Given the description of an element on the screen output the (x, y) to click on. 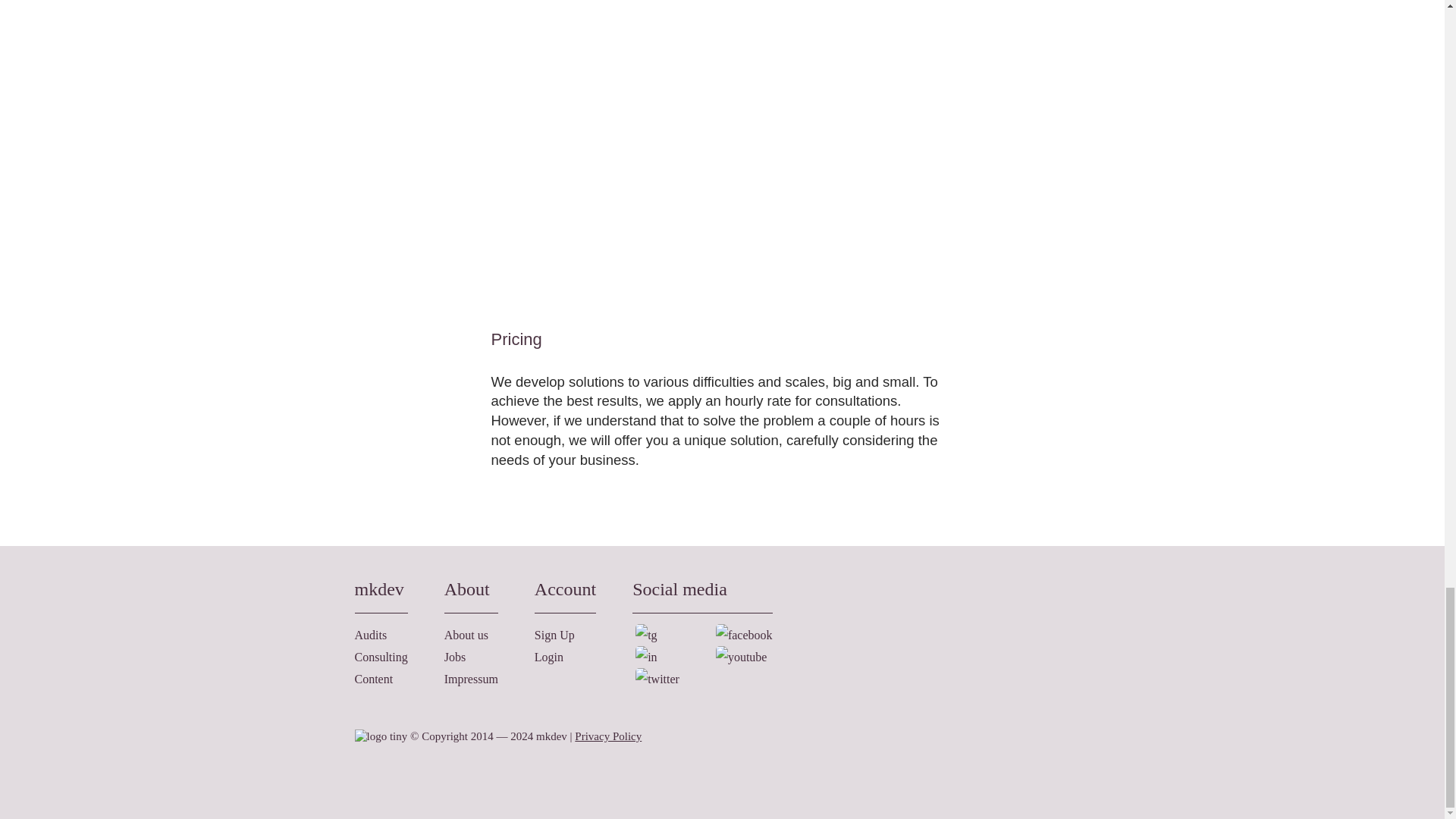
Content (374, 678)
About us (465, 634)
Consulting (381, 656)
Audits (371, 634)
Impressum (470, 678)
Jobs (454, 656)
Sign Up (554, 634)
Privacy Policy (608, 736)
Login (548, 656)
